Given the description of an element on the screen output the (x, y) to click on. 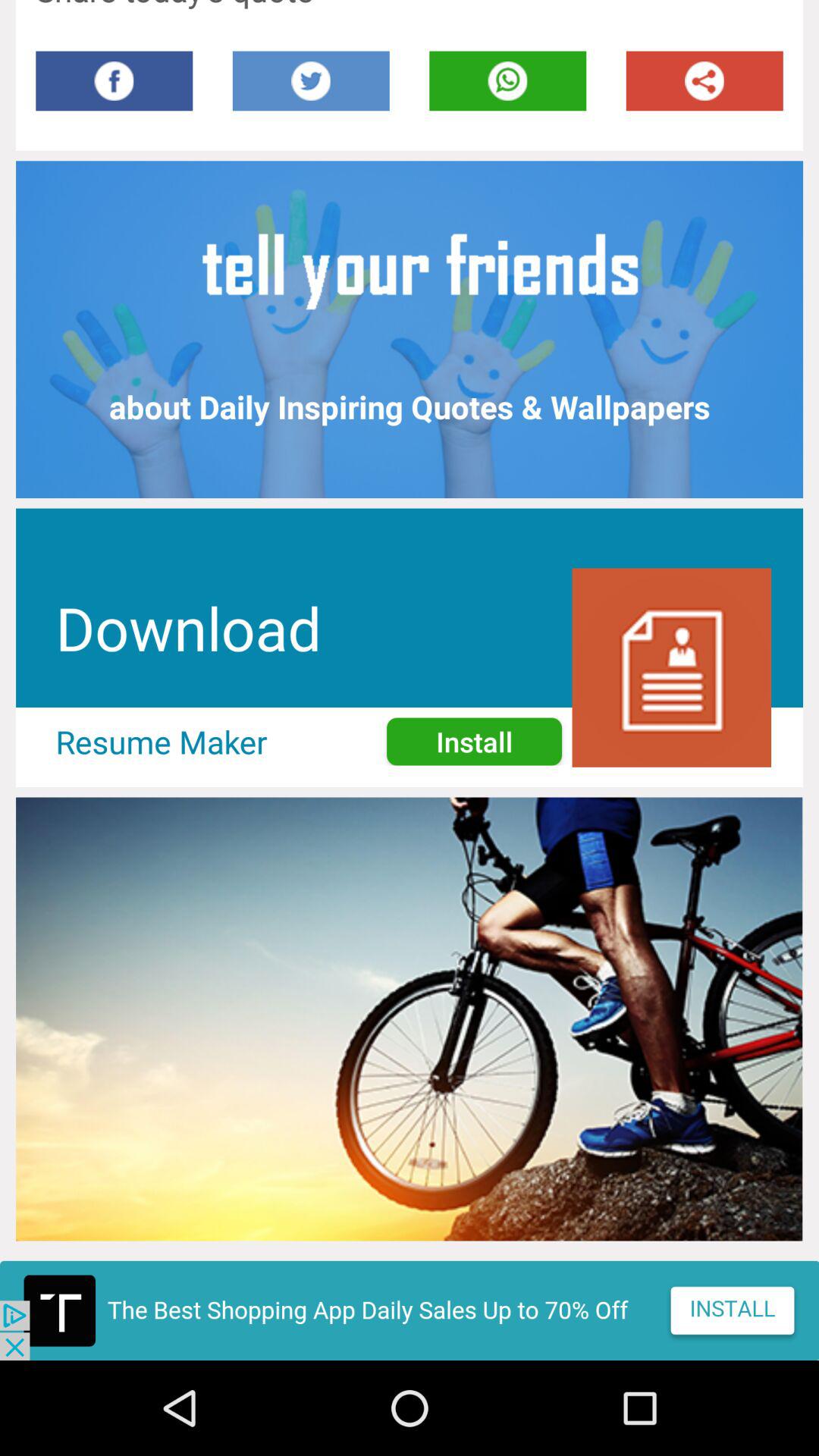
install (409, 1310)
